Given the description of an element on the screen output the (x, y) to click on. 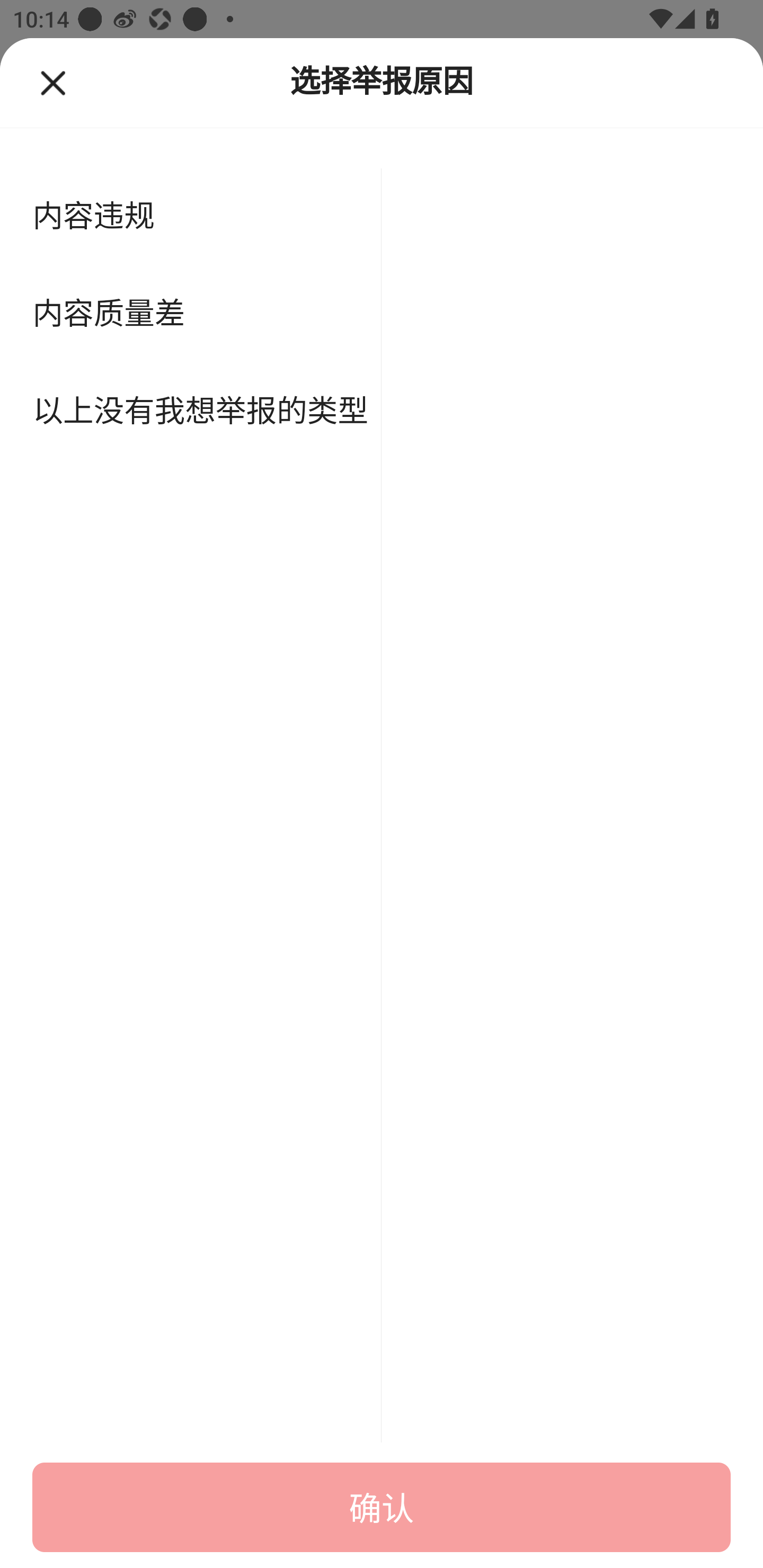
关闭 (64, 82)
以上没有我想举报的类型 (190, 412)
提交 (381, 1506)
确认 (381, 1506)
